Given the description of an element on the screen output the (x, y) to click on. 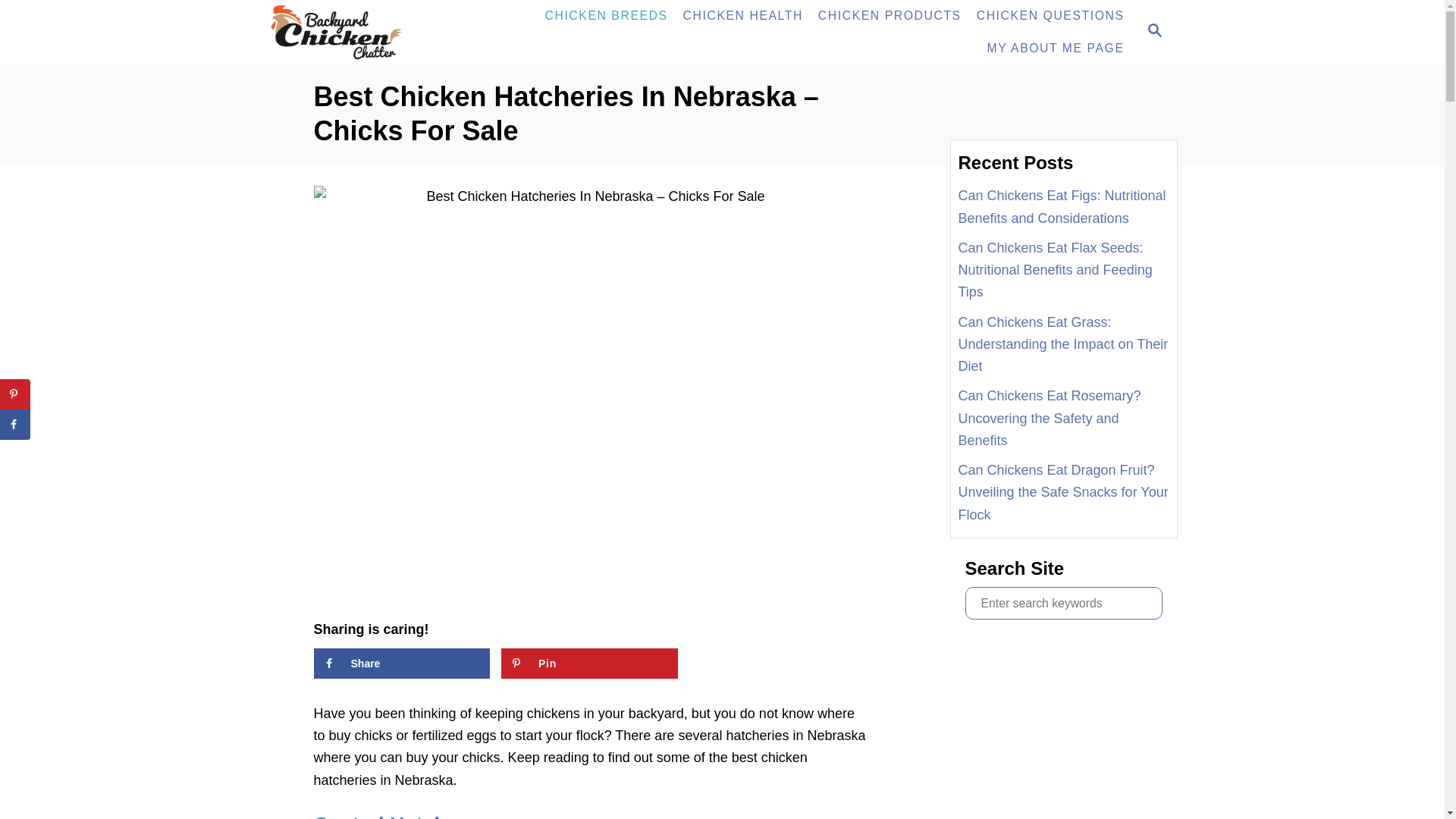
Central Hatchery (395, 816)
CHICKEN HEALTH (742, 15)
Share (402, 663)
MY ABOUT ME PAGE (1055, 48)
Pin (589, 663)
Save to Pinterest (589, 663)
CHICKEN BREEDS (606, 15)
CHICKEN PRODUCTS (889, 15)
Search for: (1062, 603)
CHICKEN QUESTIONS (1050, 15)
Share on Facebook (402, 663)
SEARCH (1153, 31)
